Given the description of an element on the screen output the (x, y) to click on. 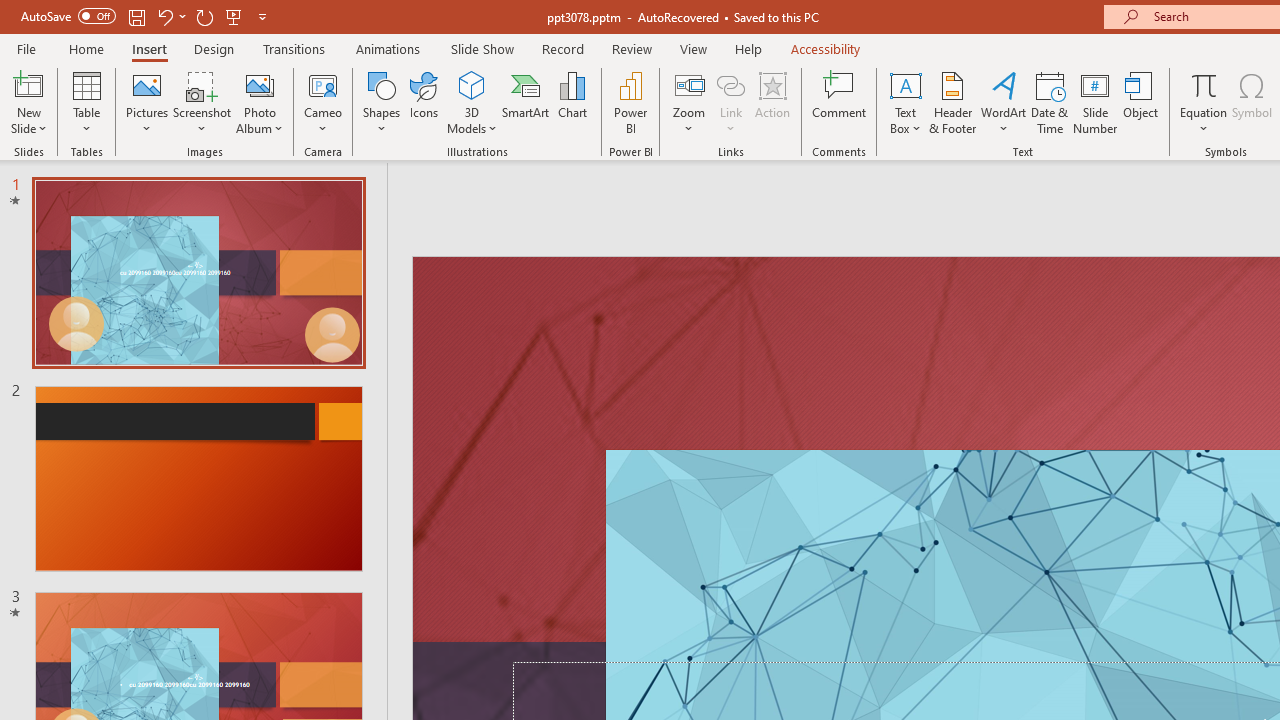
Save (136, 15)
Screenshot (202, 102)
Slide (198, 478)
Header & Footer... (952, 102)
Cameo (323, 84)
Insert (149, 48)
Equation (1203, 102)
From Beginning (234, 15)
Zoom (689, 102)
Pictures (147, 102)
New Slide (28, 102)
Accessibility (825, 48)
New Photo Album... (259, 84)
View (693, 48)
